Given the description of an element on the screen output the (x, y) to click on. 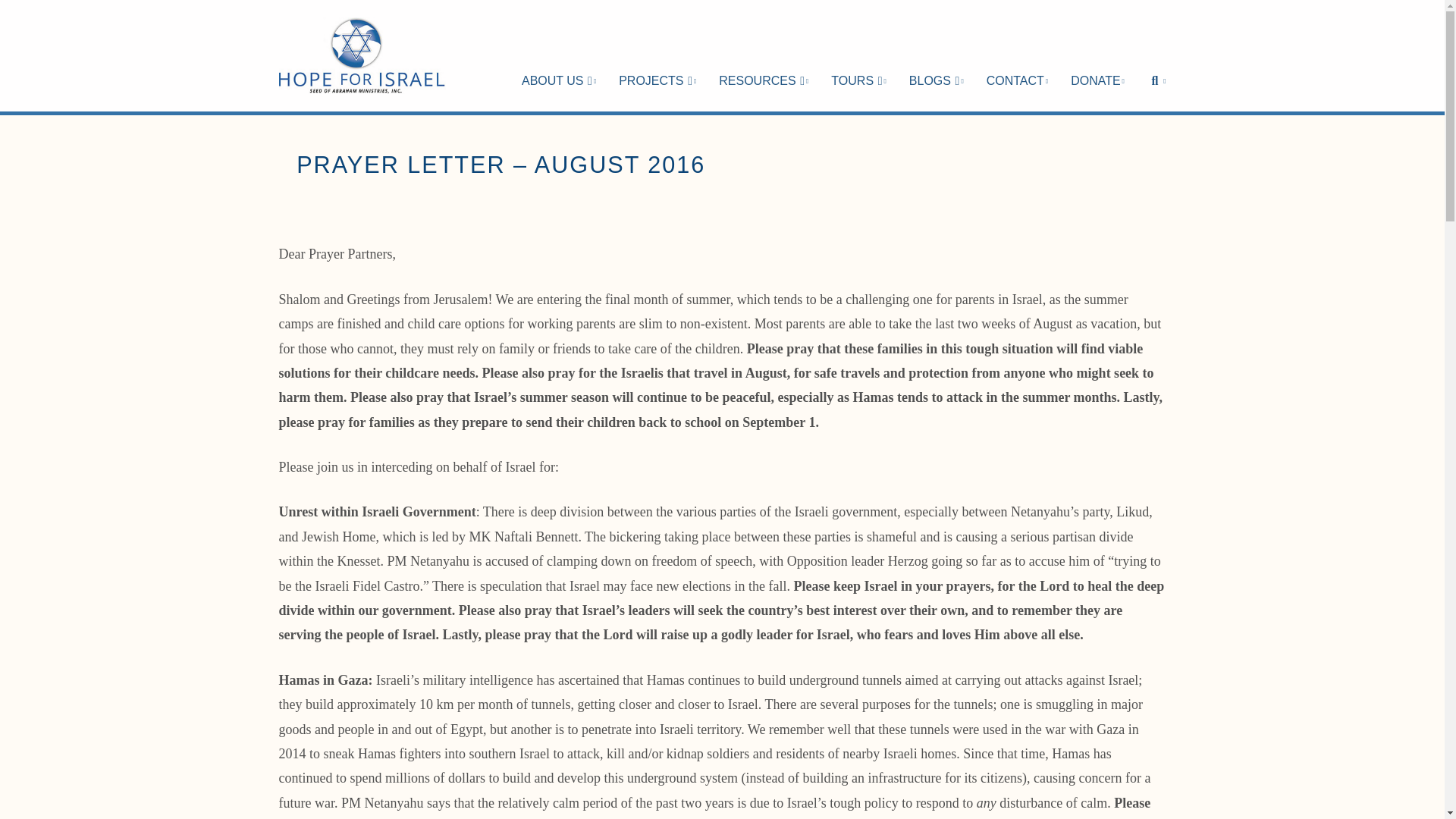
RESOURCES (763, 54)
PROJECTS (657, 54)
TOURS (857, 54)
CONTACT (1017, 54)
ABOUT US (559, 54)
BLOGS (936, 54)
DONATE (1097, 54)
